Given the description of an element on the screen output the (x, y) to click on. 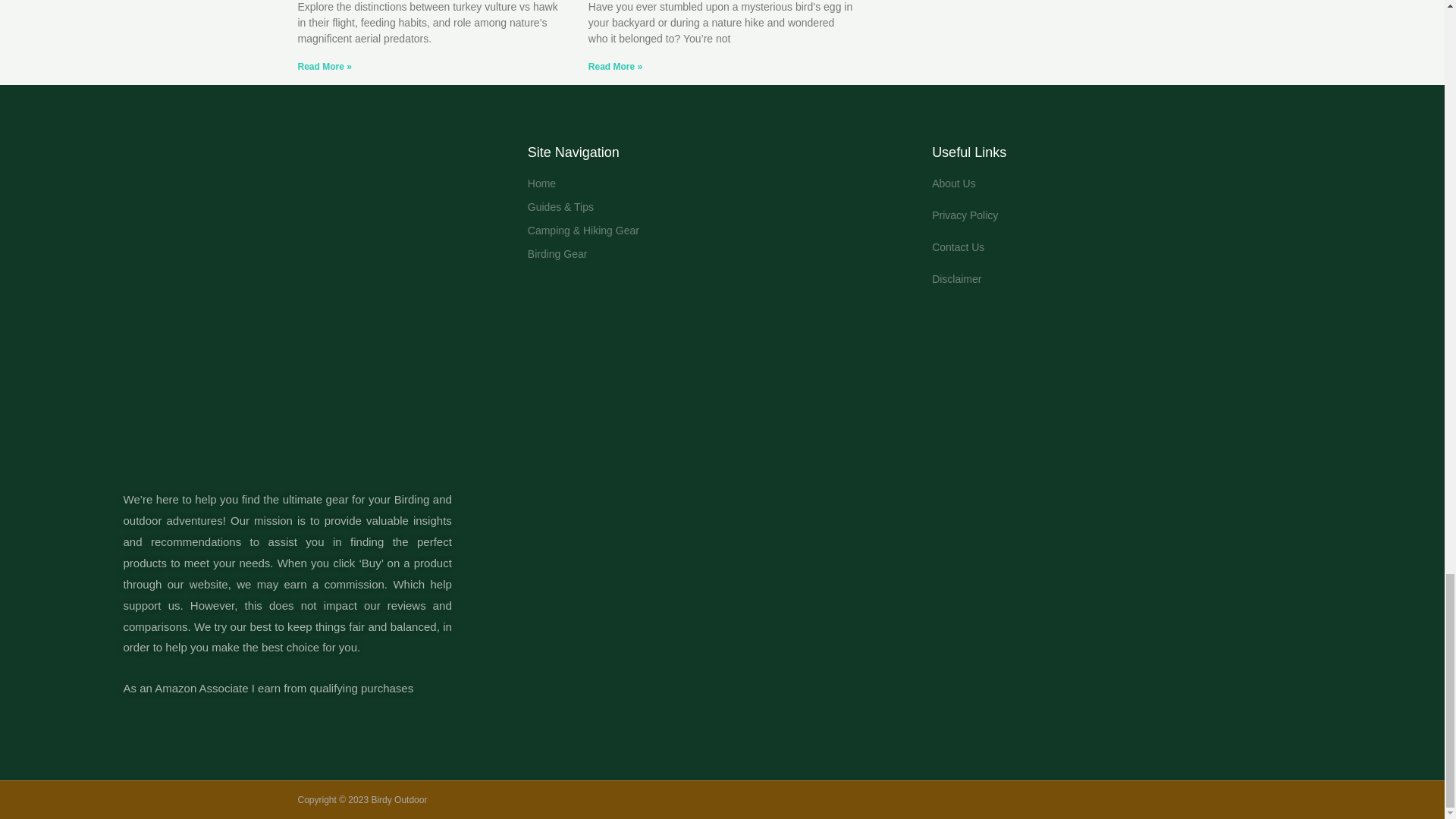
Home (722, 184)
